Given the description of an element on the screen output the (x, y) to click on. 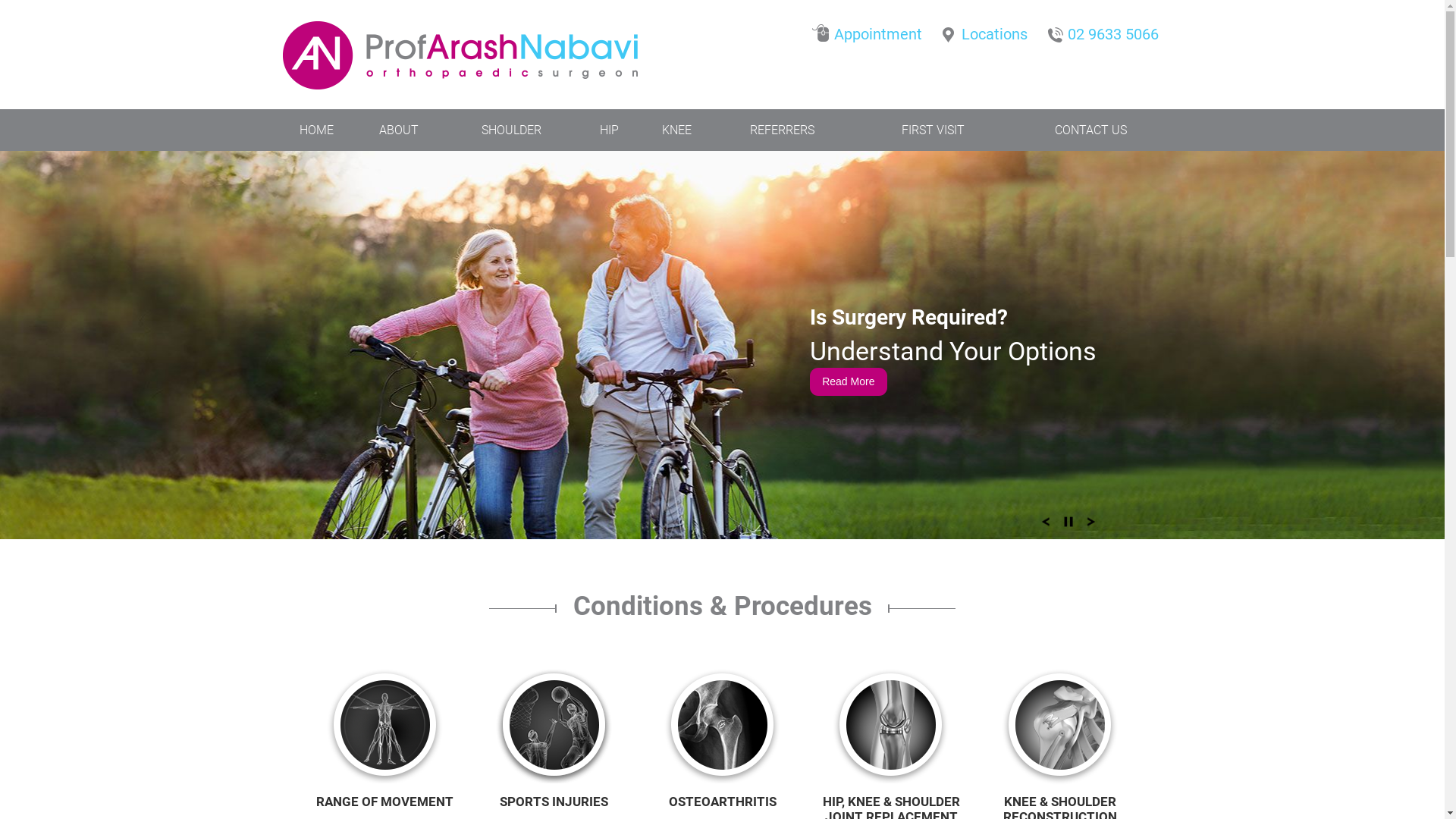
Appointment Element type: text (870, 29)
HIP Element type: text (609, 129)
REFERRERS Element type: text (782, 129)
CONTACT US Element type: text (1090, 129)
FIRST VISIT Element type: text (932, 129)
Next Slide Element type: hover (1090, 526)
HOME Element type: text (316, 129)
02 9633 5066 Element type: text (1105, 29)
KNEE Element type: text (676, 129)
Previous Slide Element type: hover (1045, 526)
SHOULDER Element type: text (511, 129)
Read More Element type: text (848, 381)
ABOUT Element type: text (399, 129)
Locations Element type: text (986, 29)
Conditions & Procedures Element type: text (722, 629)
